Given the description of an element on the screen output the (x, y) to click on. 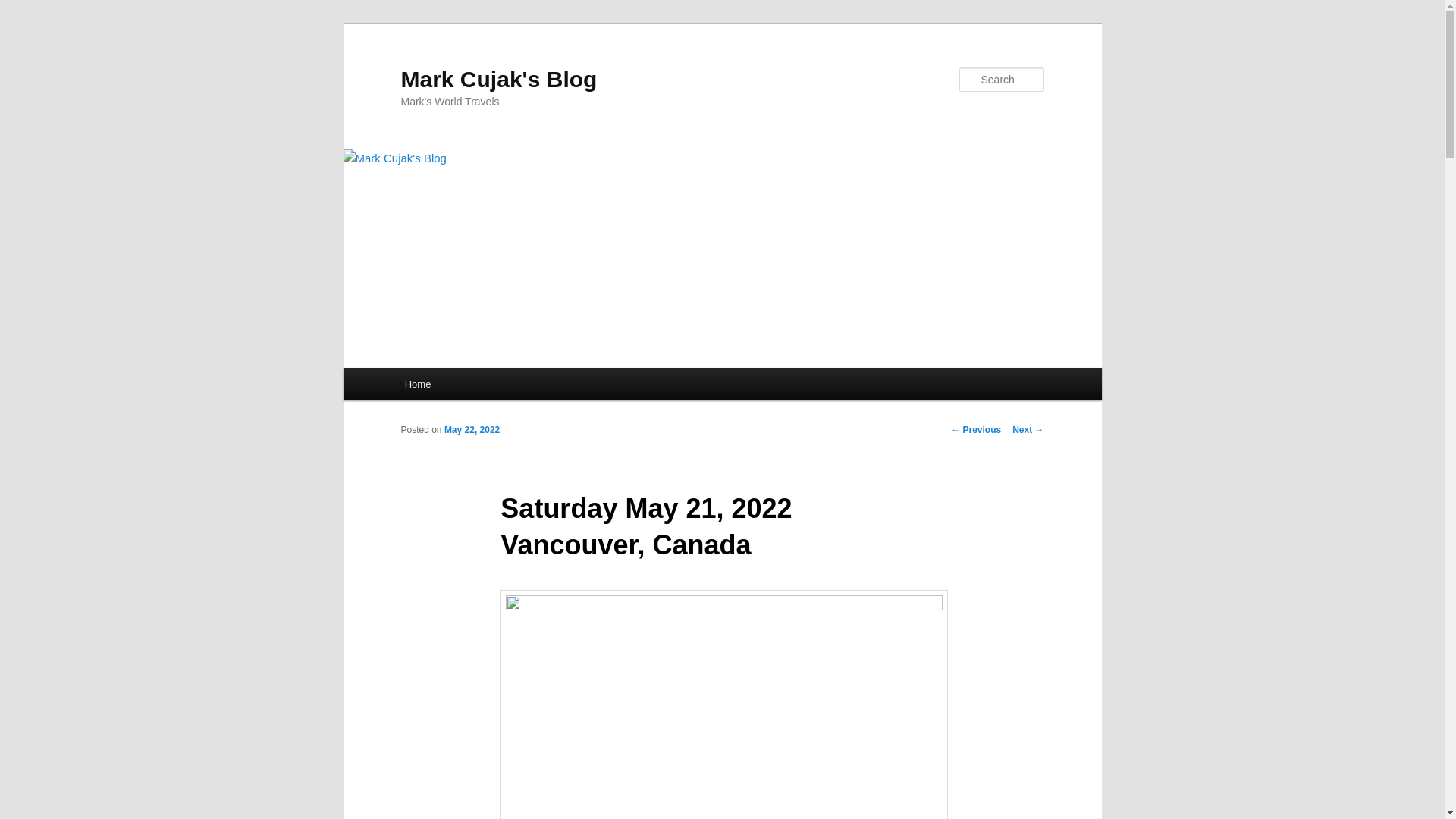
Home (417, 383)
Mark Cujak's Blog (498, 78)
Search (24, 8)
7:37 am (471, 429)
May 22, 2022 (471, 429)
